Given the description of an element on the screen output the (x, y) to click on. 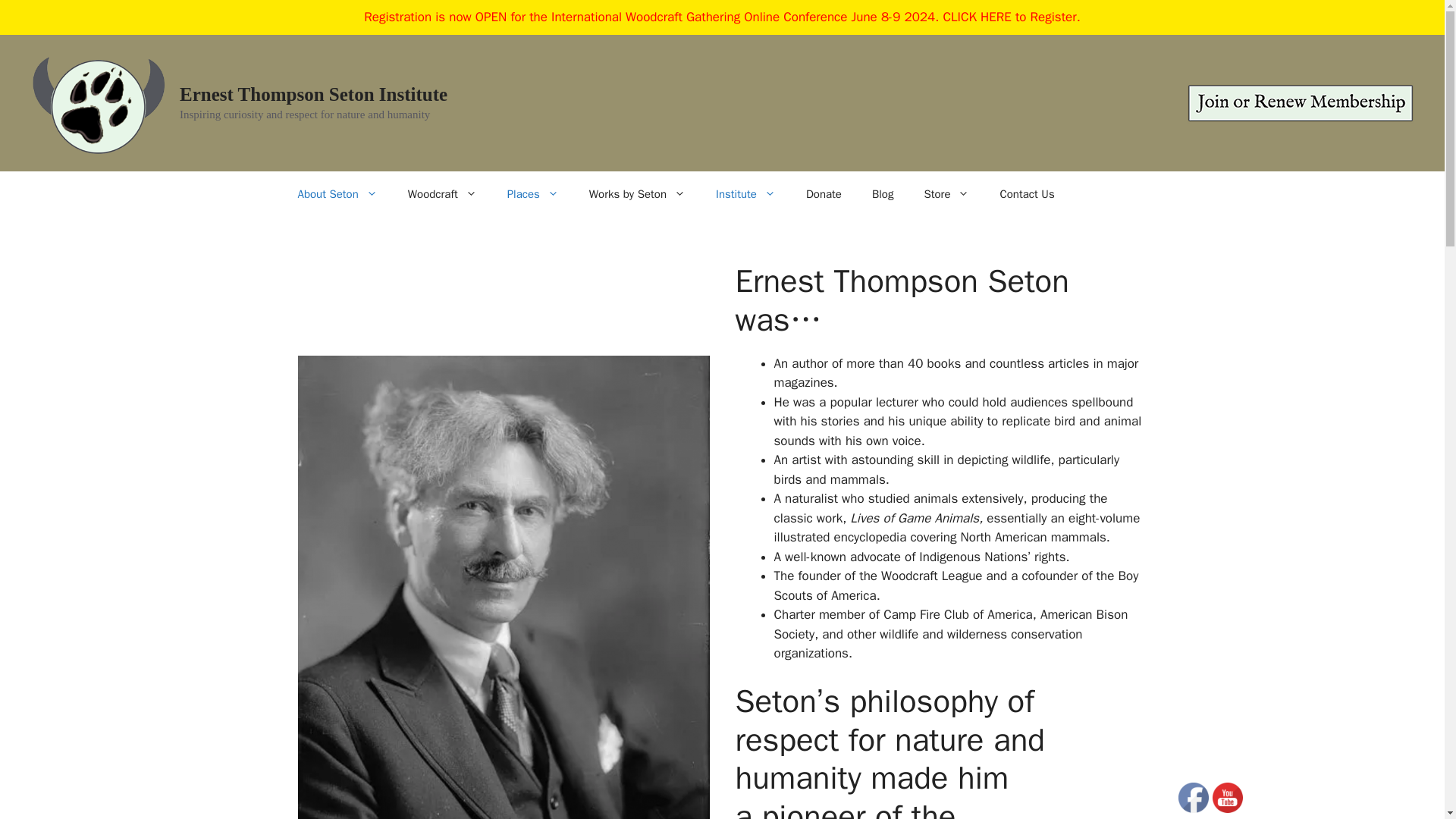
Join-Membership-Join-Renew-ETSI-01 (1299, 102)
Woodcraft (442, 194)
About Seton (336, 194)
Ernest Thompson Seton Institute (312, 94)
CLICK HERE to Register. (1011, 17)
Facebook (1192, 797)
Places (532, 194)
YouTube (1227, 797)
